Given the description of an element on the screen output the (x, y) to click on. 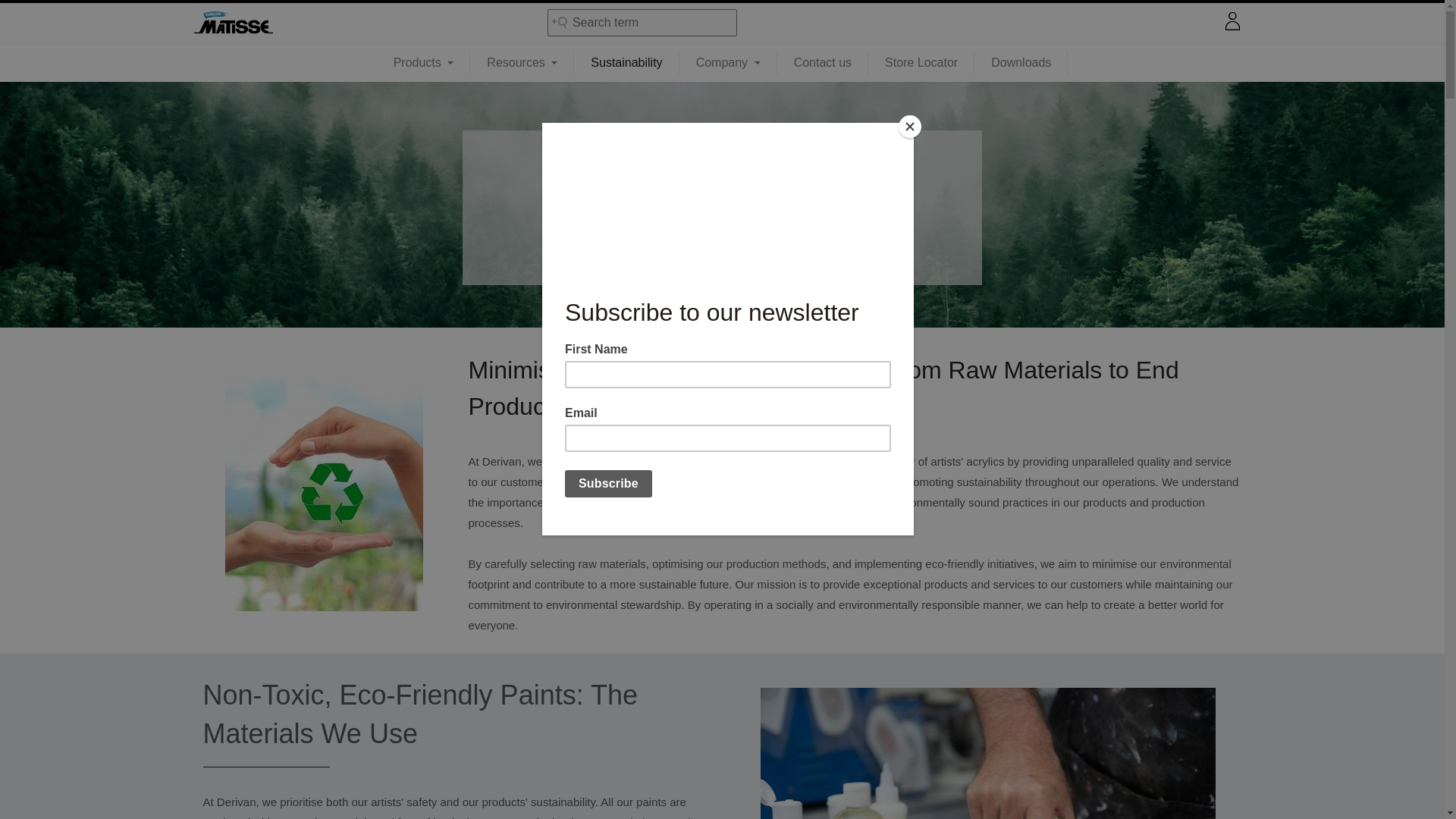
Sustainability (625, 62)
Company (728, 62)
Matisse (232, 22)
Products (423, 62)
Resources (521, 62)
